Given the description of an element on the screen output the (x, y) to click on. 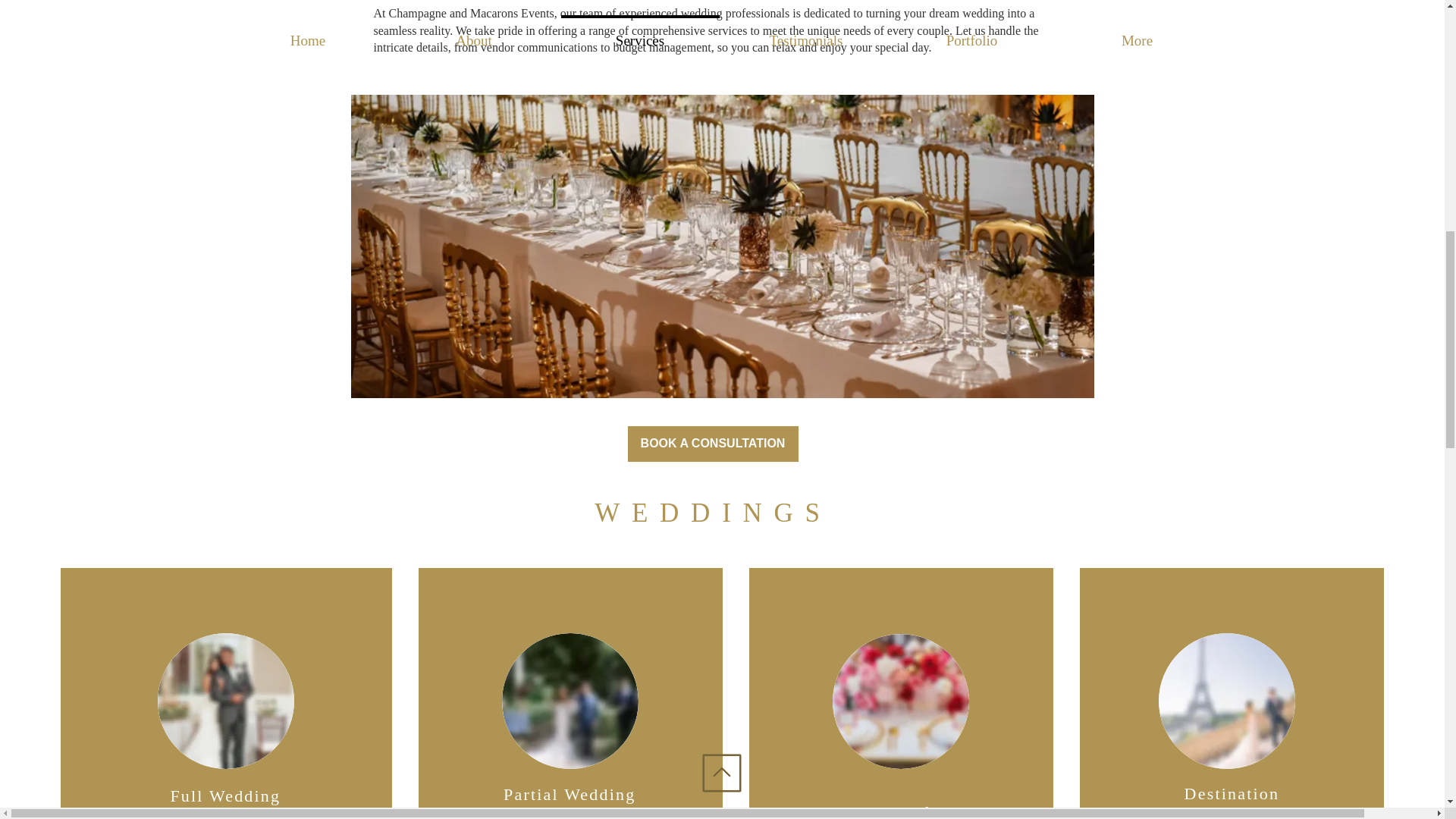
BOOK A CONSULTATION (711, 443)
